Given the description of an element on the screen output the (x, y) to click on. 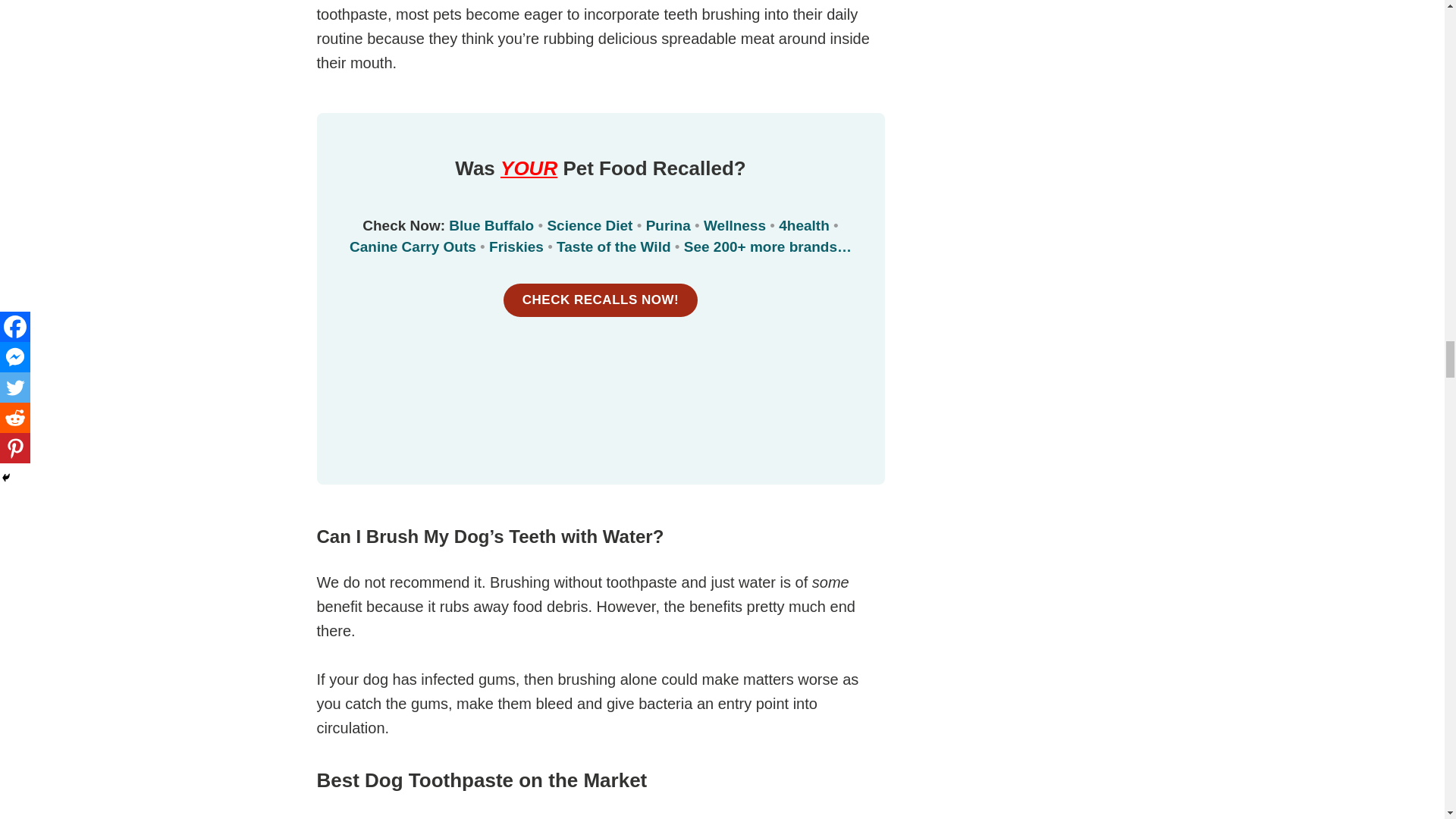
Wellness recall history (734, 225)
Blue Buffalo recall history (491, 225)
Purina recall history (668, 225)
Science Diet recall history (589, 225)
